Given the description of an element on the screen output the (x, y) to click on. 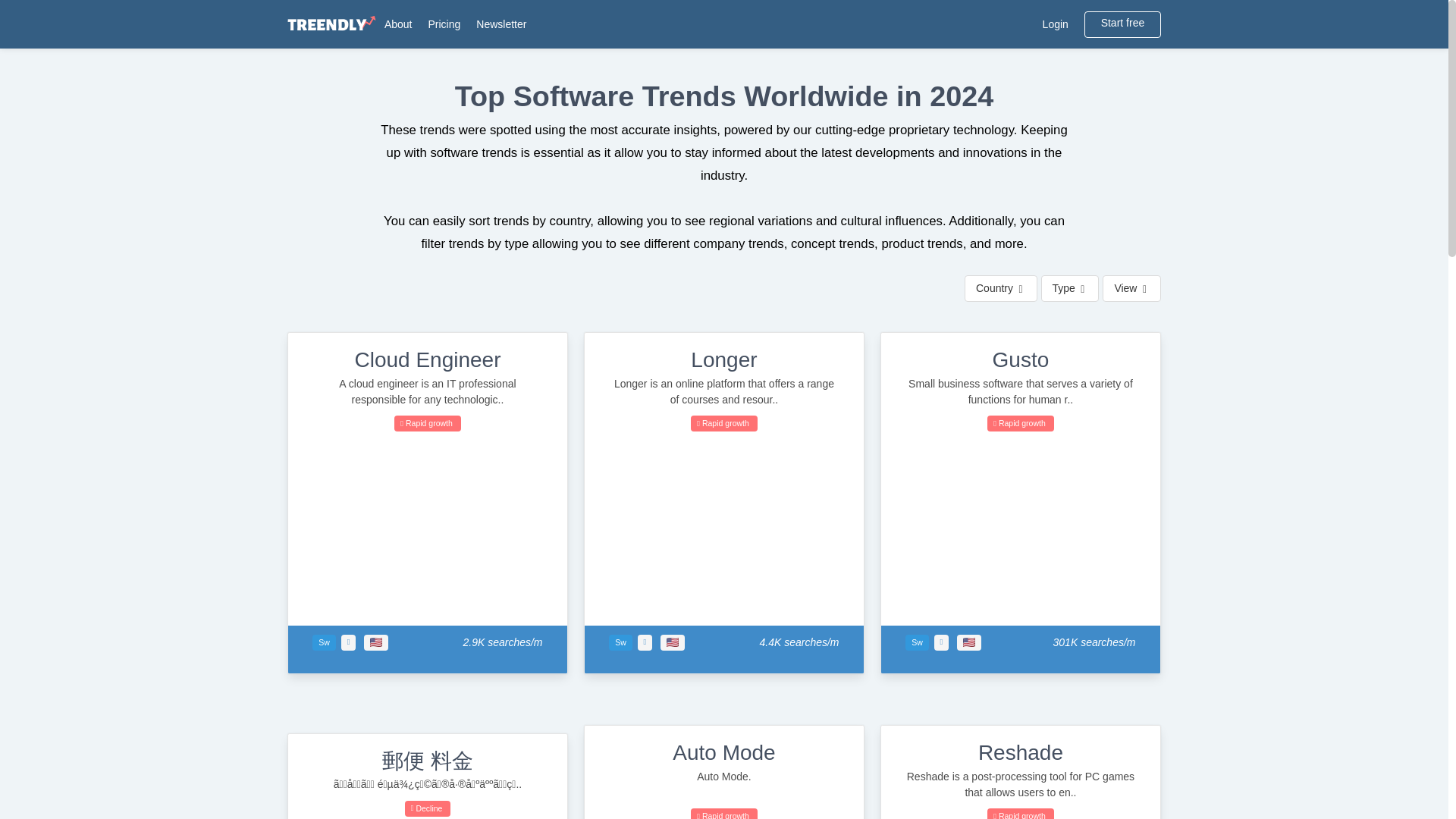
About (397, 24)
  Start free   (1122, 24)
View (1131, 288)
Country (999, 288)
Pricing (444, 24)
Type (1070, 288)
Gusto (1020, 359)
Auto Mode (723, 752)
Newsletter (501, 24)
Longer (723, 359)
Reshade (1020, 752)
Cloud Engineer (426, 359)
